Given the description of an element on the screen output the (x, y) to click on. 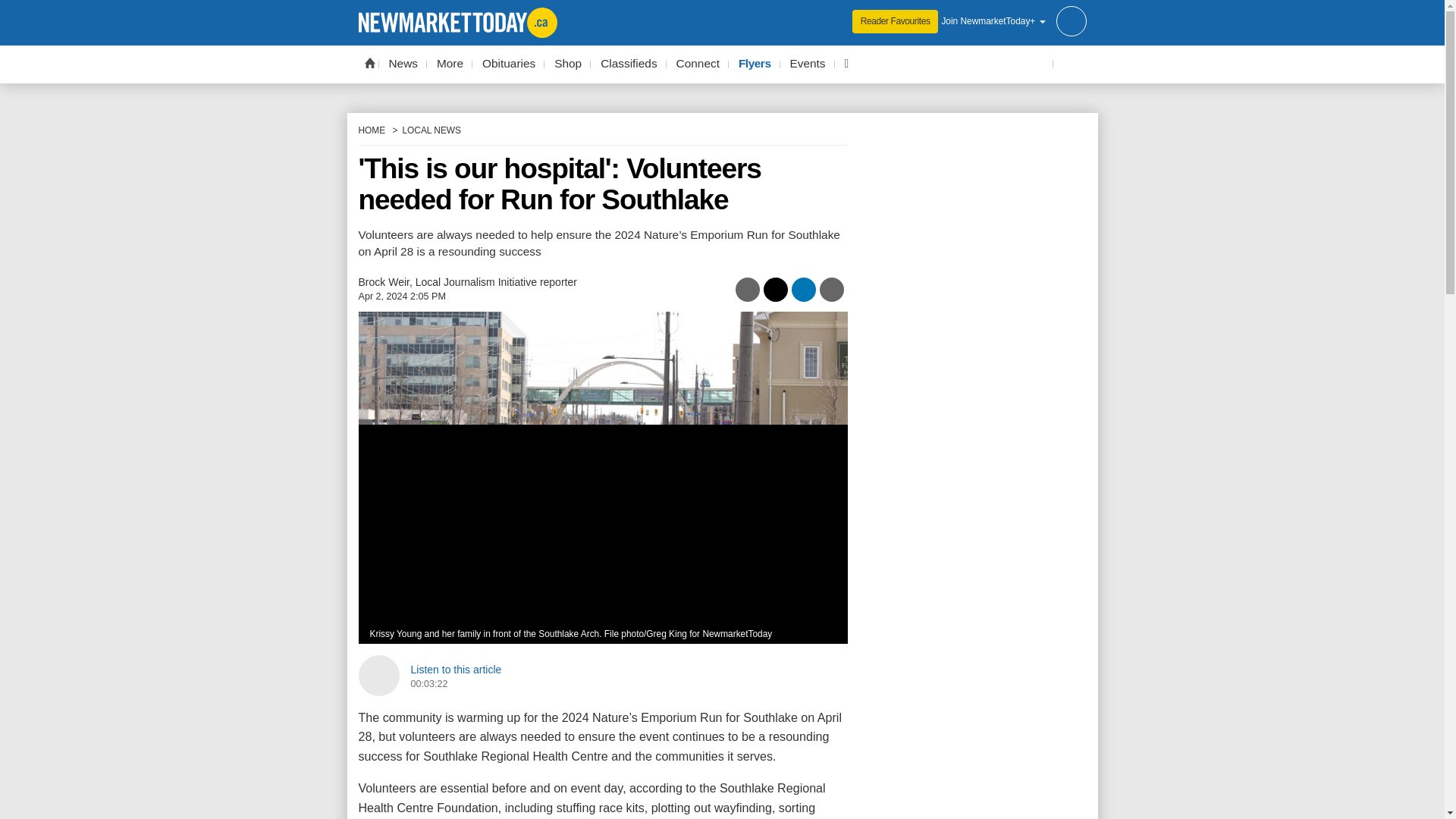
NewmarketToday Cares (847, 64)
Home (368, 62)
Previous (385, 477)
News (403, 64)
Next (819, 477)
Reader Favourites (895, 21)
